Given the description of an element on the screen output the (x, y) to click on. 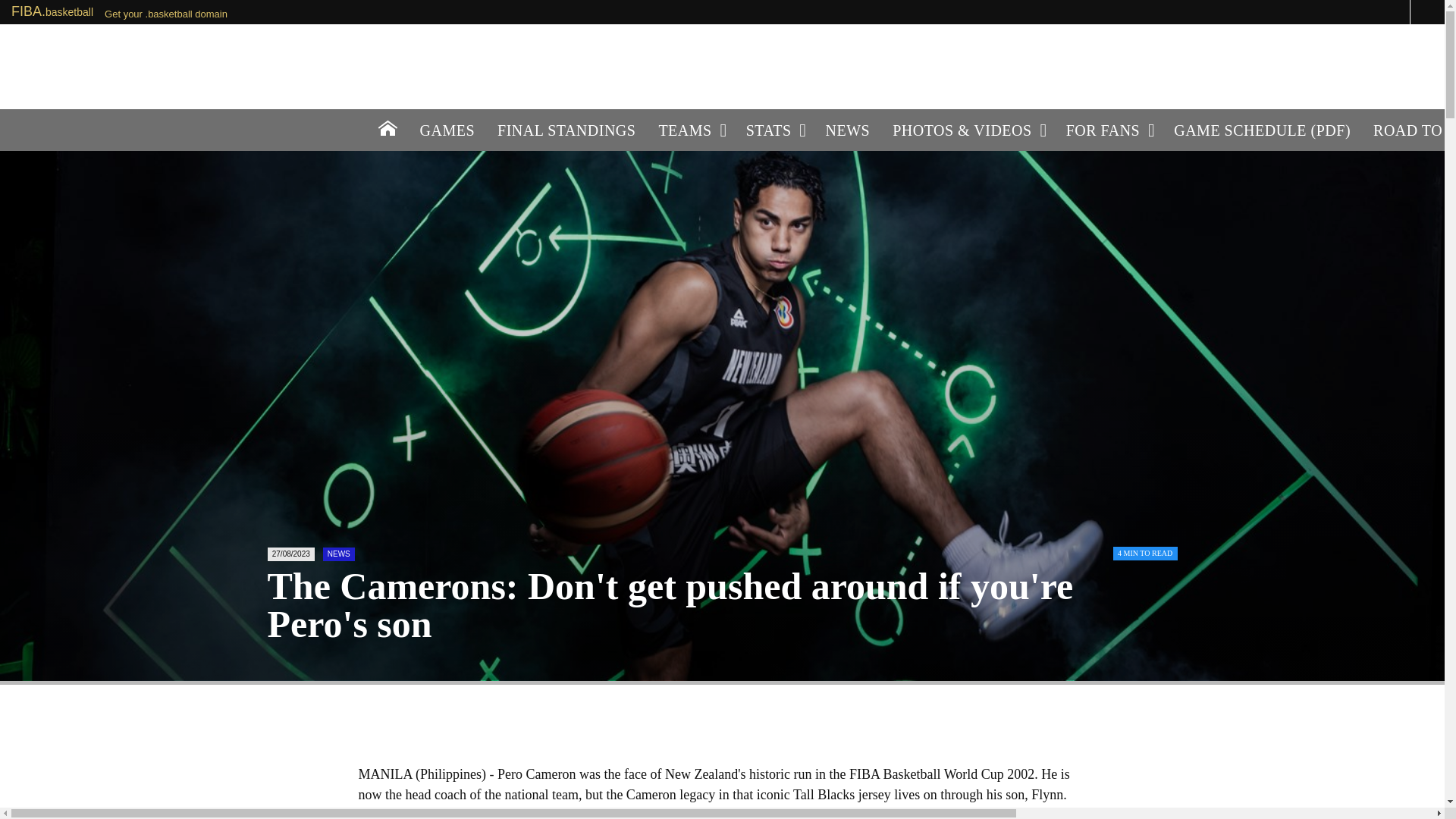
GAMES (446, 129)
FIBA.basketball (52, 11)
FINAL STANDINGS (566, 129)
Get your .basketball domain (165, 13)
TEAMS (689, 129)
